Given the description of an element on the screen output the (x, y) to click on. 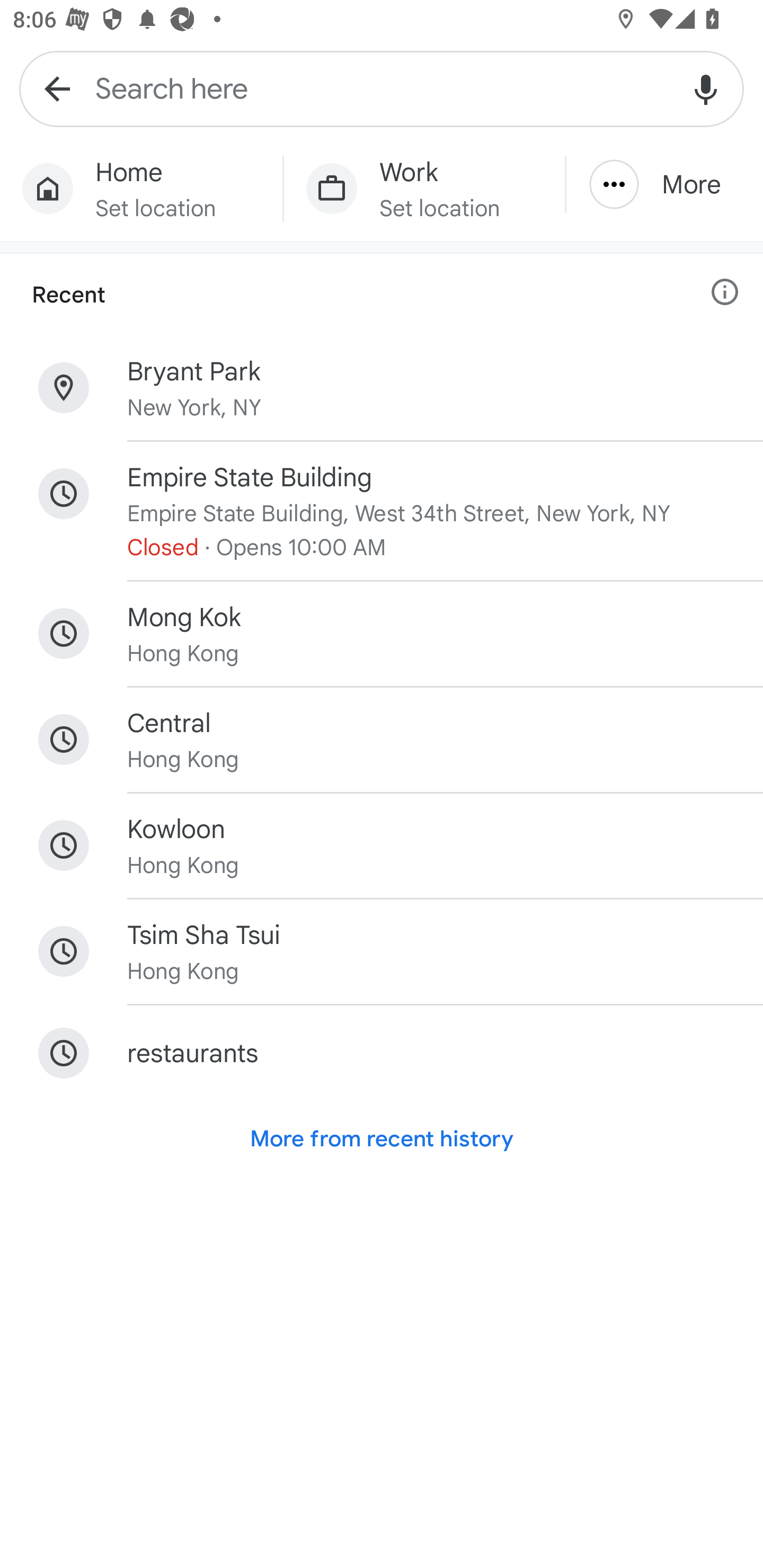
Navigate up (57, 88)
Search here (381, 88)
Voice search (705, 88)
Home Set location (141, 188)
Work Set location (423, 188)
More (664, 184)
Bryant Park New York, NY (381, 387)
Mong Kok Hong Kong (381, 633)
Central Hong Kong (381, 739)
Kowloon Hong Kong (381, 845)
Tsim Sha Tsui Hong Kong (381, 951)
restaurants (381, 1052)
More from recent history (381, 1138)
